Given the description of an element on the screen output the (x, y) to click on. 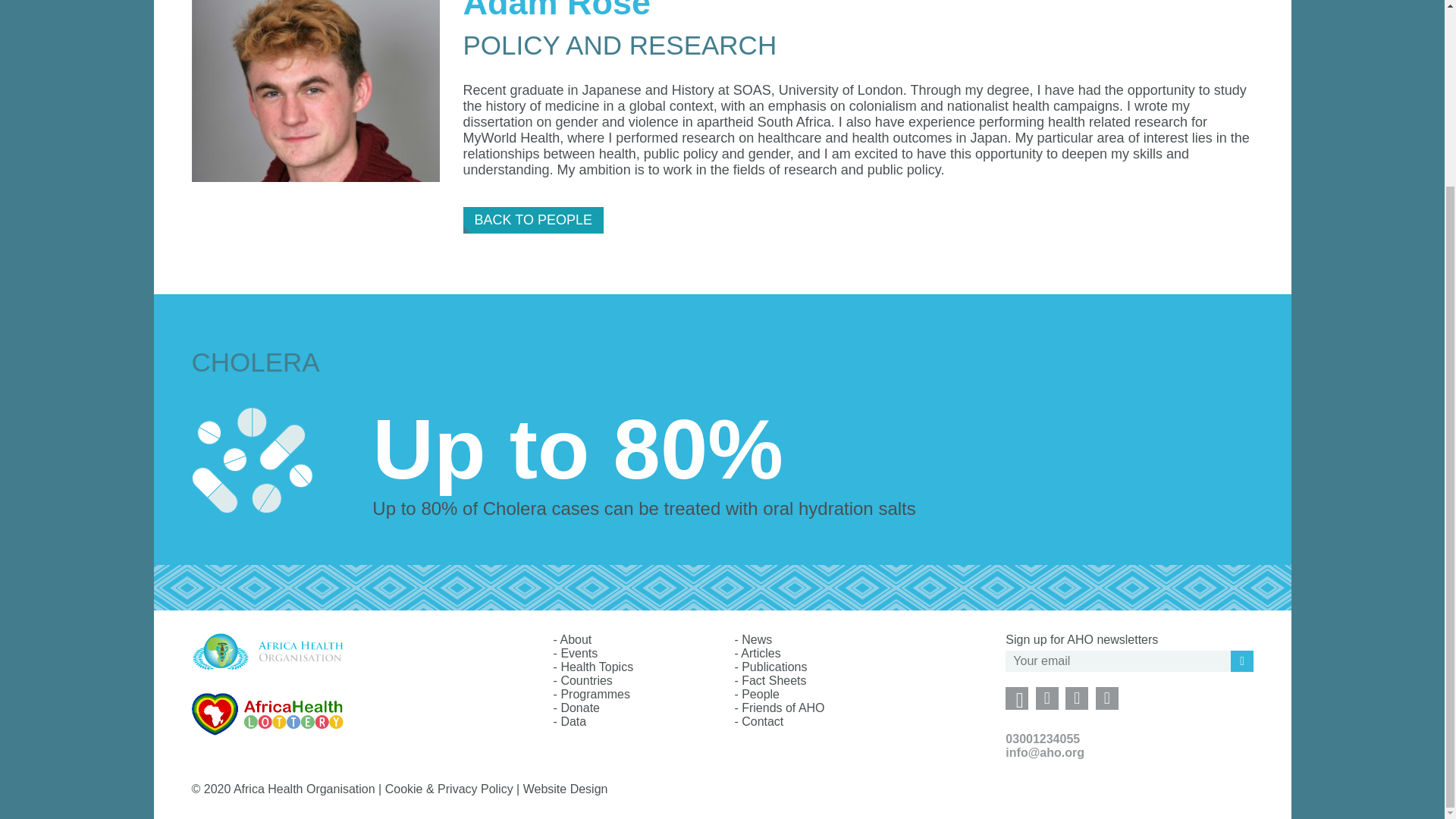
Programmes (595, 694)
BACK TO PEOPLE (533, 220)
Events (578, 653)
About (575, 639)
Countries (585, 680)
Health Topics (596, 666)
